Given the description of an element on the screen output the (x, y) to click on. 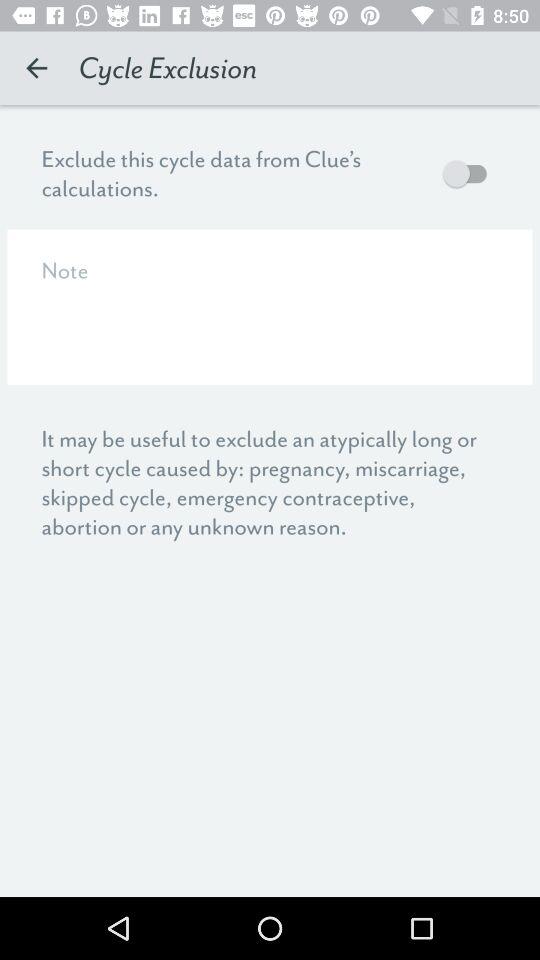
press icon at the top right corner (469, 173)
